Given the description of an element on the screen output the (x, y) to click on. 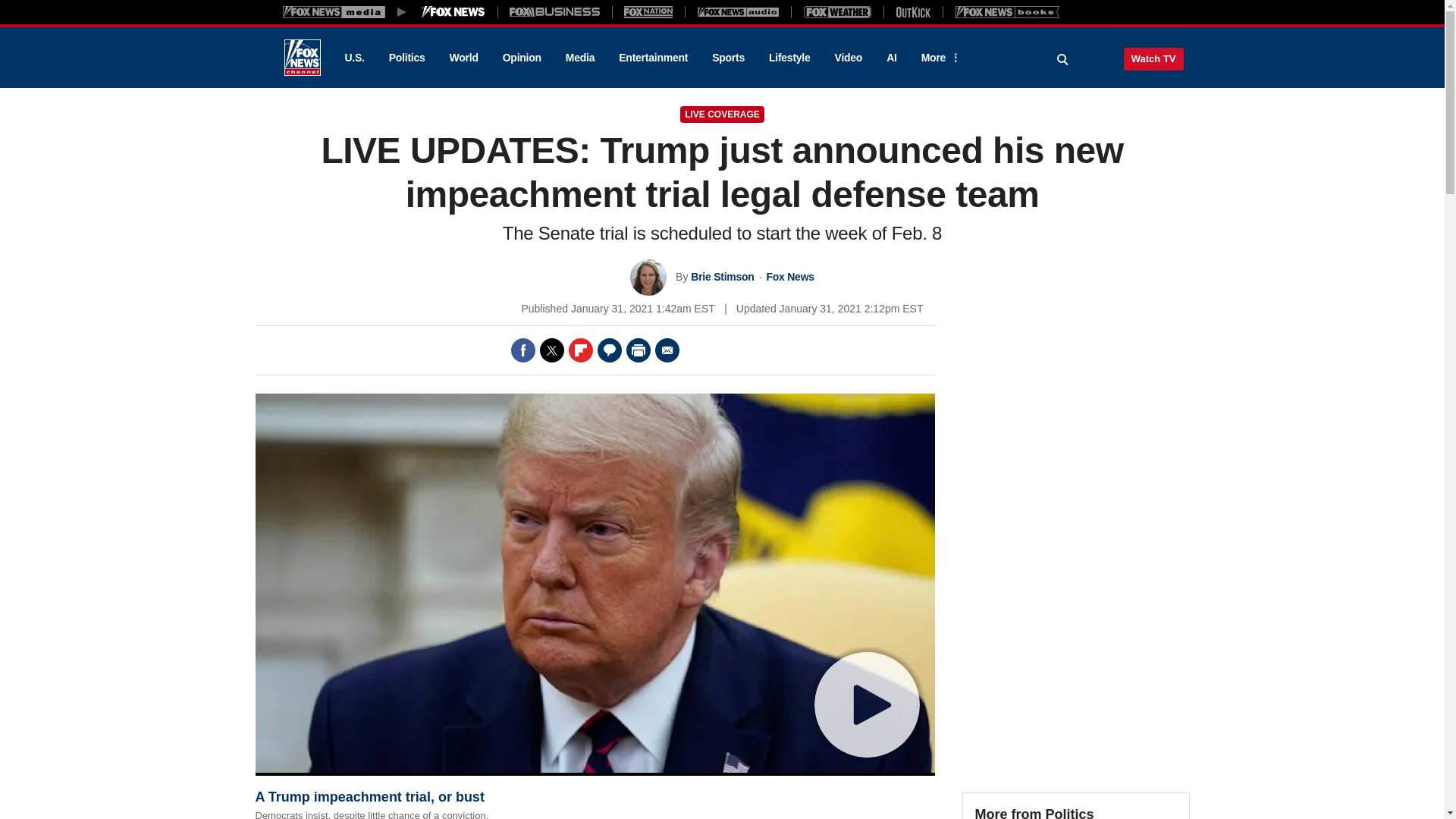
Fox News Audio (737, 11)
Outkick (912, 11)
Lifestyle (789, 57)
Media (580, 57)
Fox News Media (453, 11)
Fox Business (554, 11)
More (938, 57)
U.S. (353, 57)
Books (1007, 11)
Fox Nation (648, 11)
